Given the description of an element on the screen output the (x, y) to click on. 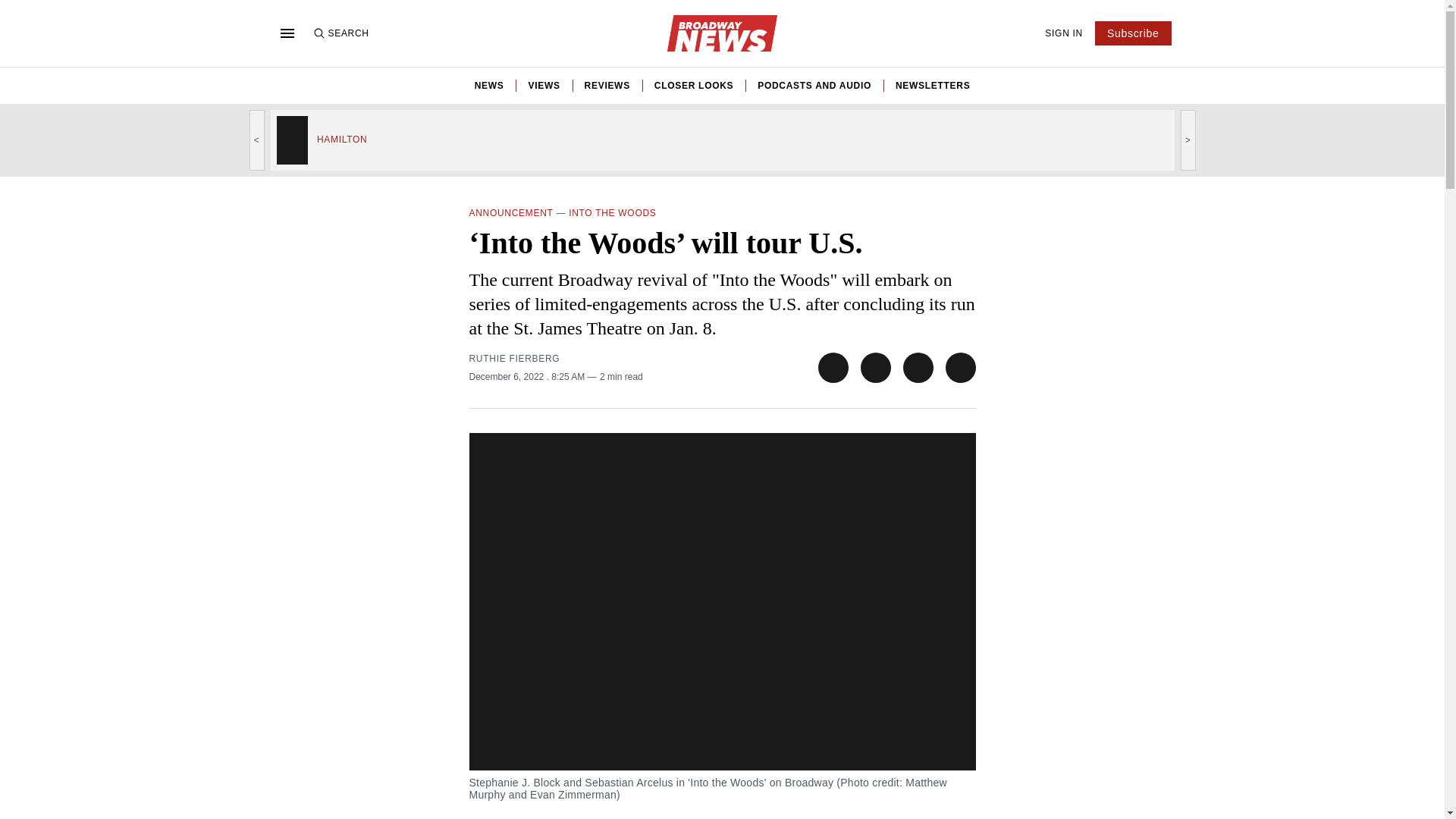
CLOSER LOOKS (693, 85)
SEARCH (340, 33)
SIGN IN (1064, 33)
NEWSLETTERS (932, 85)
Subscribe (1133, 33)
VIEWS (543, 85)
PODCASTS AND AUDIO (813, 85)
REVIEWS (607, 85)
NEWS (488, 85)
